Given the description of an element on the screen output the (x, y) to click on. 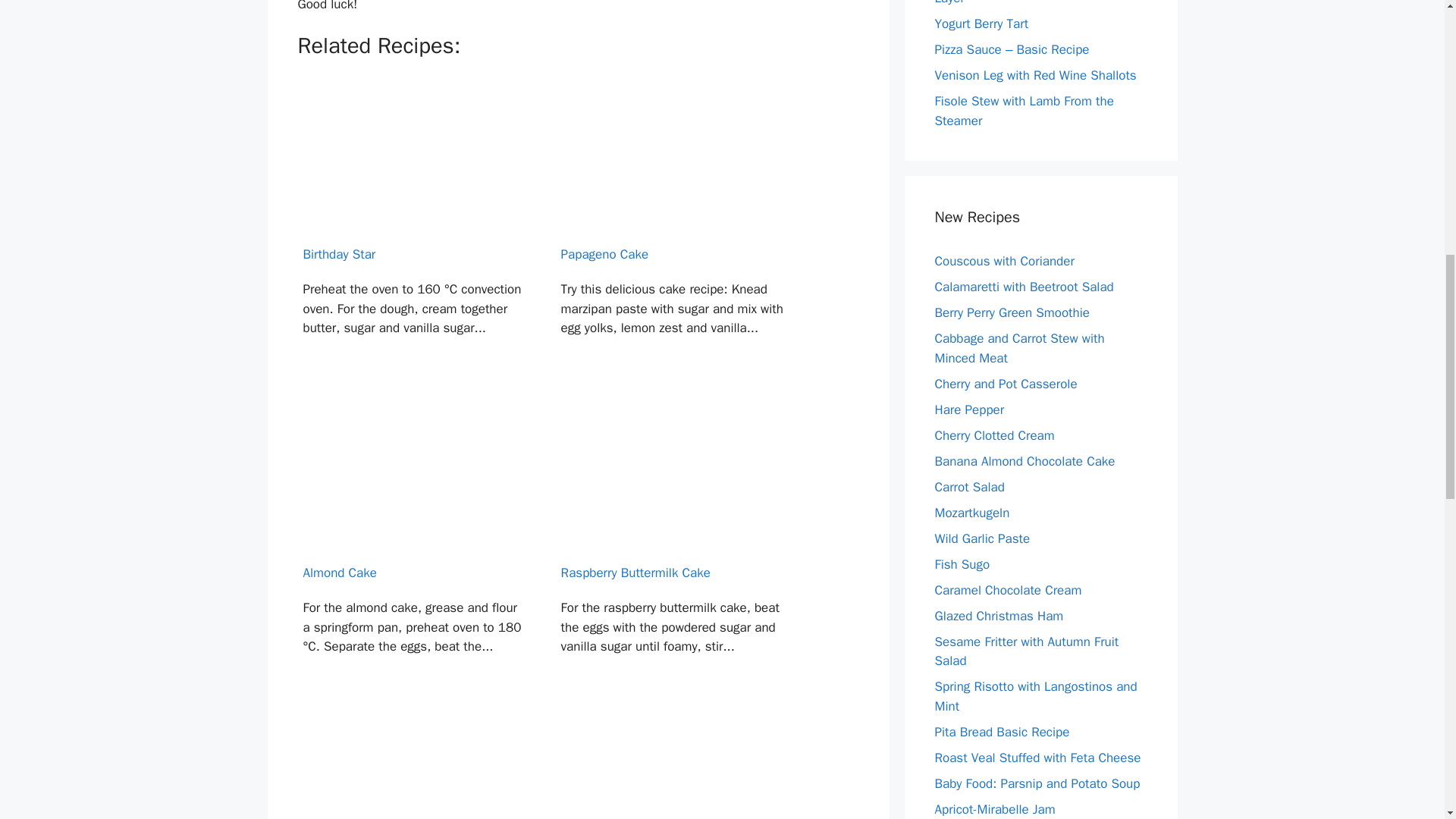
Couscous with Coriander (1004, 261)
First Communion Cake (414, 767)
Yogurt Berry Tart (980, 23)
Venison Leg with Red Wine Shallots (1034, 75)
Chocolate Vanilla Cake with Fruit Layer (1026, 3)
Fisole Stew with Lamb From the Steamer (1023, 110)
Rhubarb Pot Pie (673, 767)
